Given the description of an element on the screen output the (x, y) to click on. 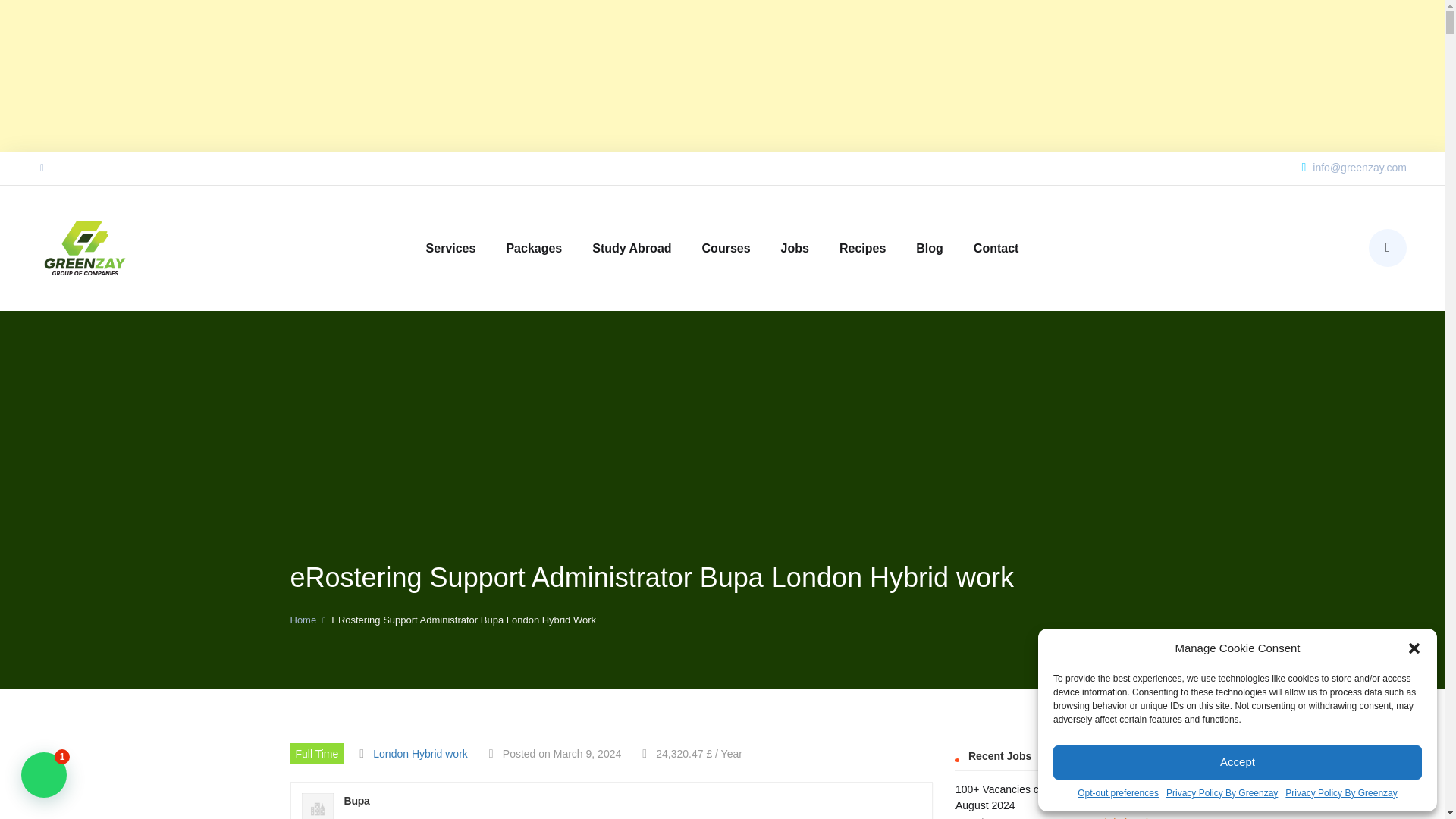
Recipes (862, 247)
Privacy Policy By Greenzay (1340, 793)
Privacy Policy By Greenzay (1222, 793)
Opt-out preferences (1117, 793)
Packages (533, 247)
Accept (1237, 762)
Contact (996, 247)
London Hybrid work (419, 753)
Study Abroad (631, 247)
